Given the description of an element on the screen output the (x, y) to click on. 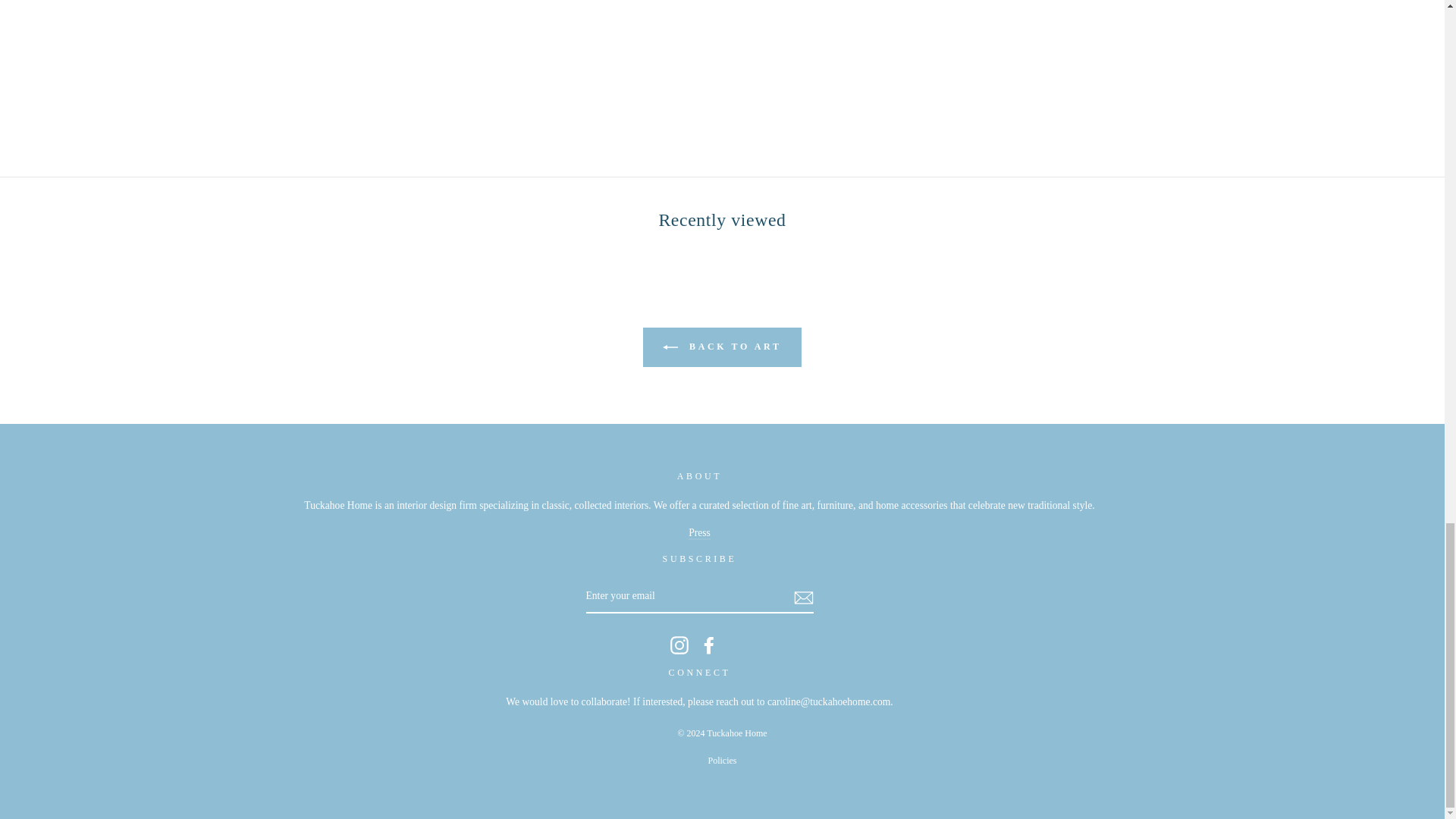
Instagram (678, 645)
Facebook (707, 645)
Tuckahoe Home on Instagram (678, 645)
Press (699, 533)
Policies (721, 760)
Tuckahoe Home on Facebook (707, 645)
BACK TO ART (721, 346)
